Given the description of an element on the screen output the (x, y) to click on. 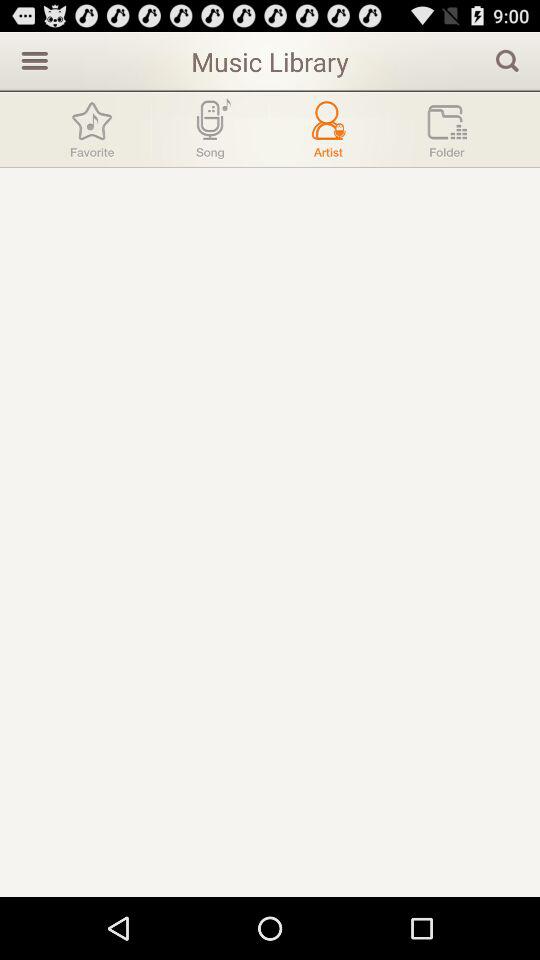
launch icon to the left of music library item (32, 60)
